Given the description of an element on the screen output the (x, y) to click on. 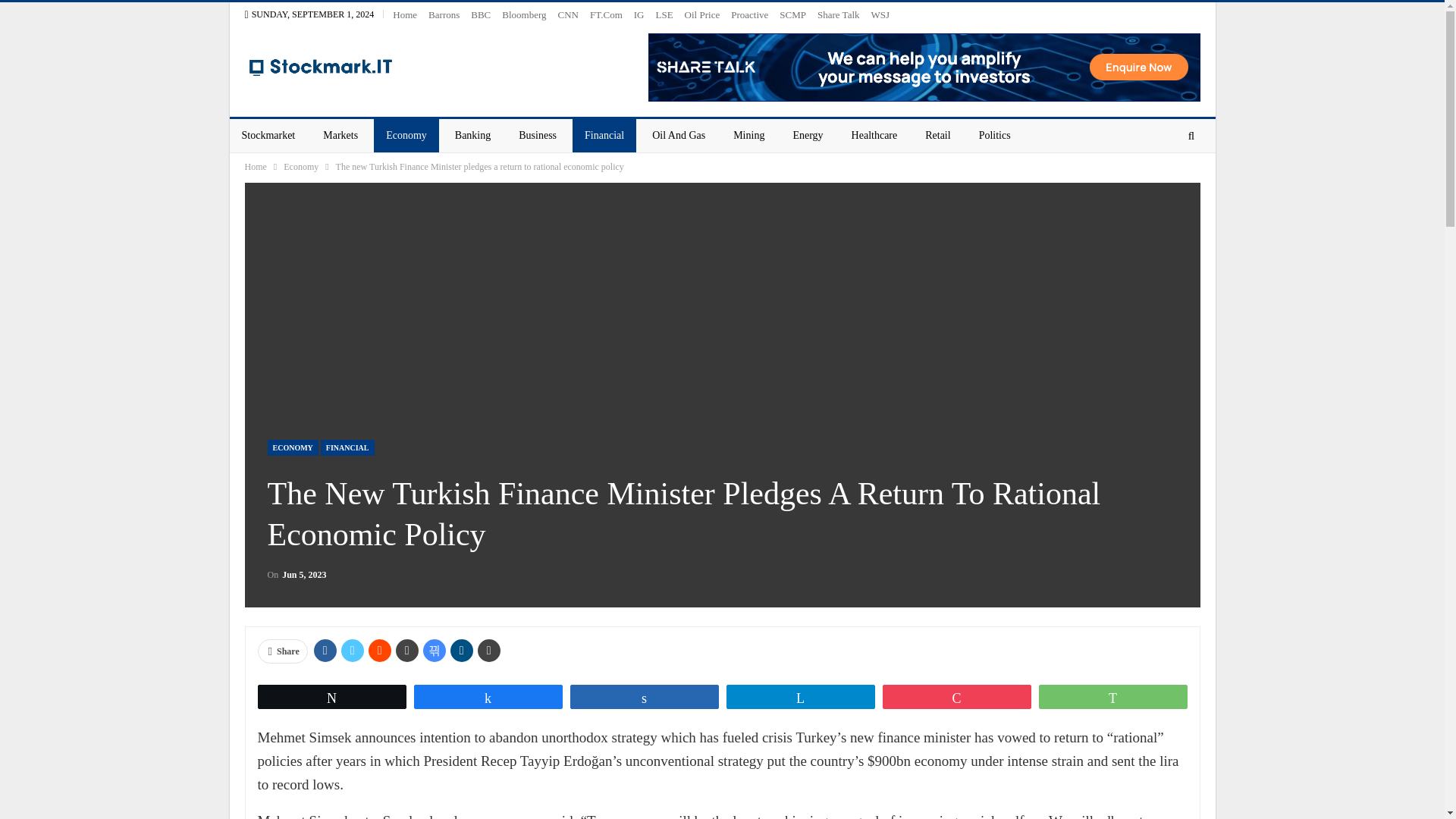
Retail (937, 135)
ECONOMY (291, 447)
Stockmarket (267, 135)
FT.Com (606, 14)
FINANCIAL (347, 447)
Mining (748, 135)
Oil And Gas (678, 135)
LSE (663, 14)
Barrons (444, 14)
